Given the description of an element on the screen output the (x, y) to click on. 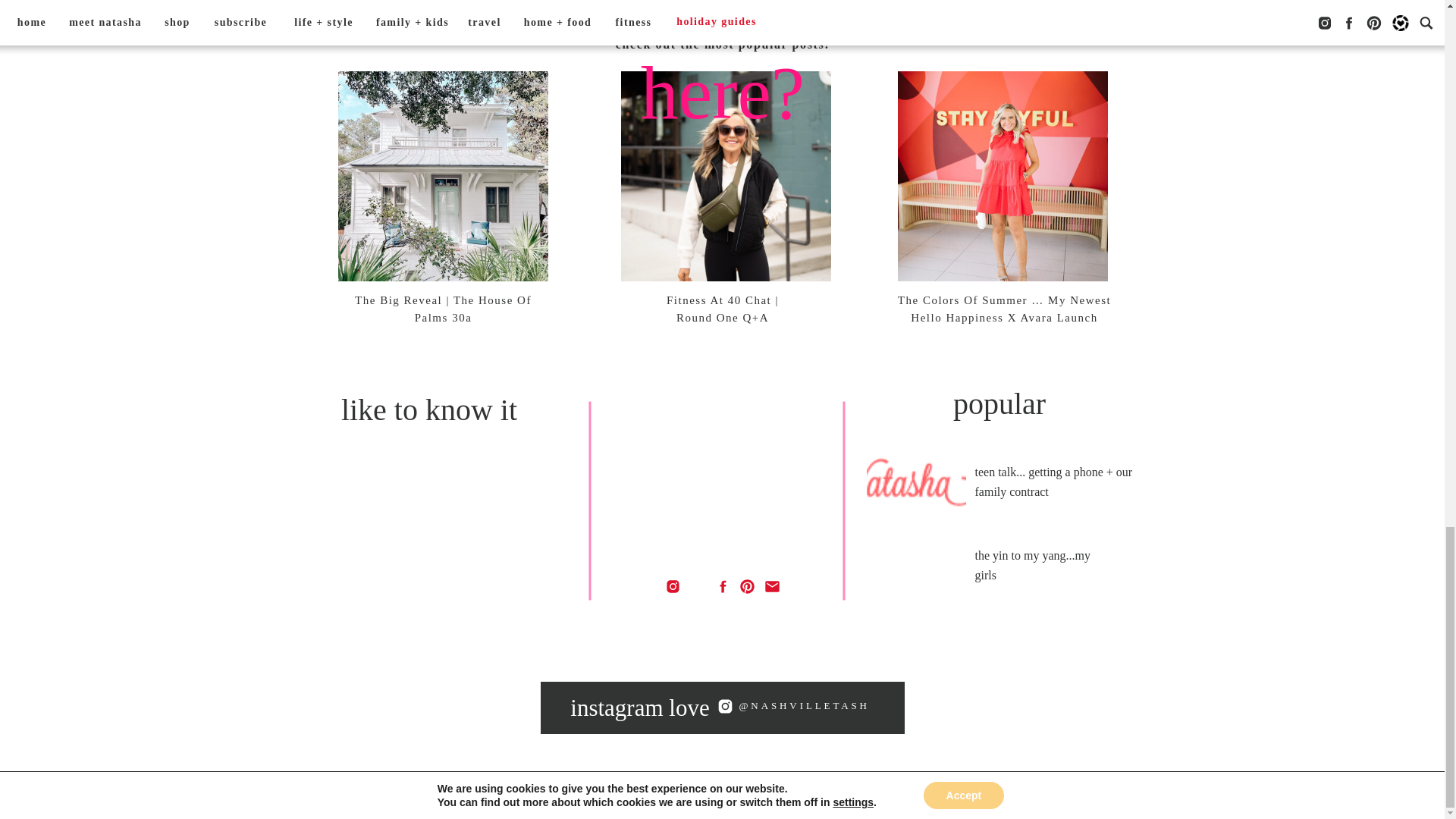
ZLP09876 (959, 706)
ZLP03919 (484, 706)
